Given the description of an element on the screen output the (x, y) to click on. 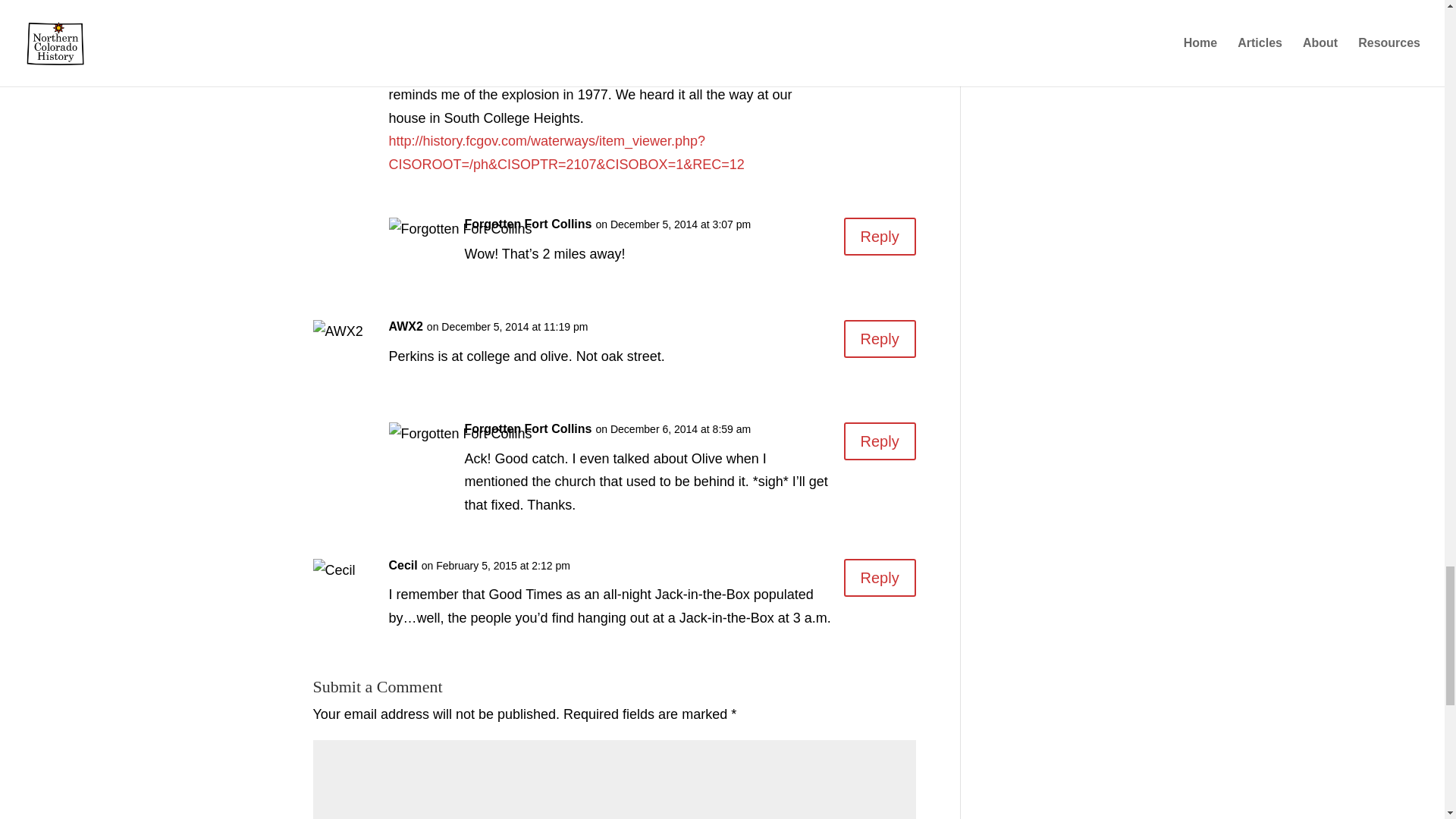
Reply (879, 577)
Forgotten Fort Collins (527, 224)
Reply (879, 338)
Reply (879, 236)
Reply (879, 441)
Reply (879, 54)
Forgotten Fort Collins (527, 429)
